Given the description of an element on the screen output the (x, y) to click on. 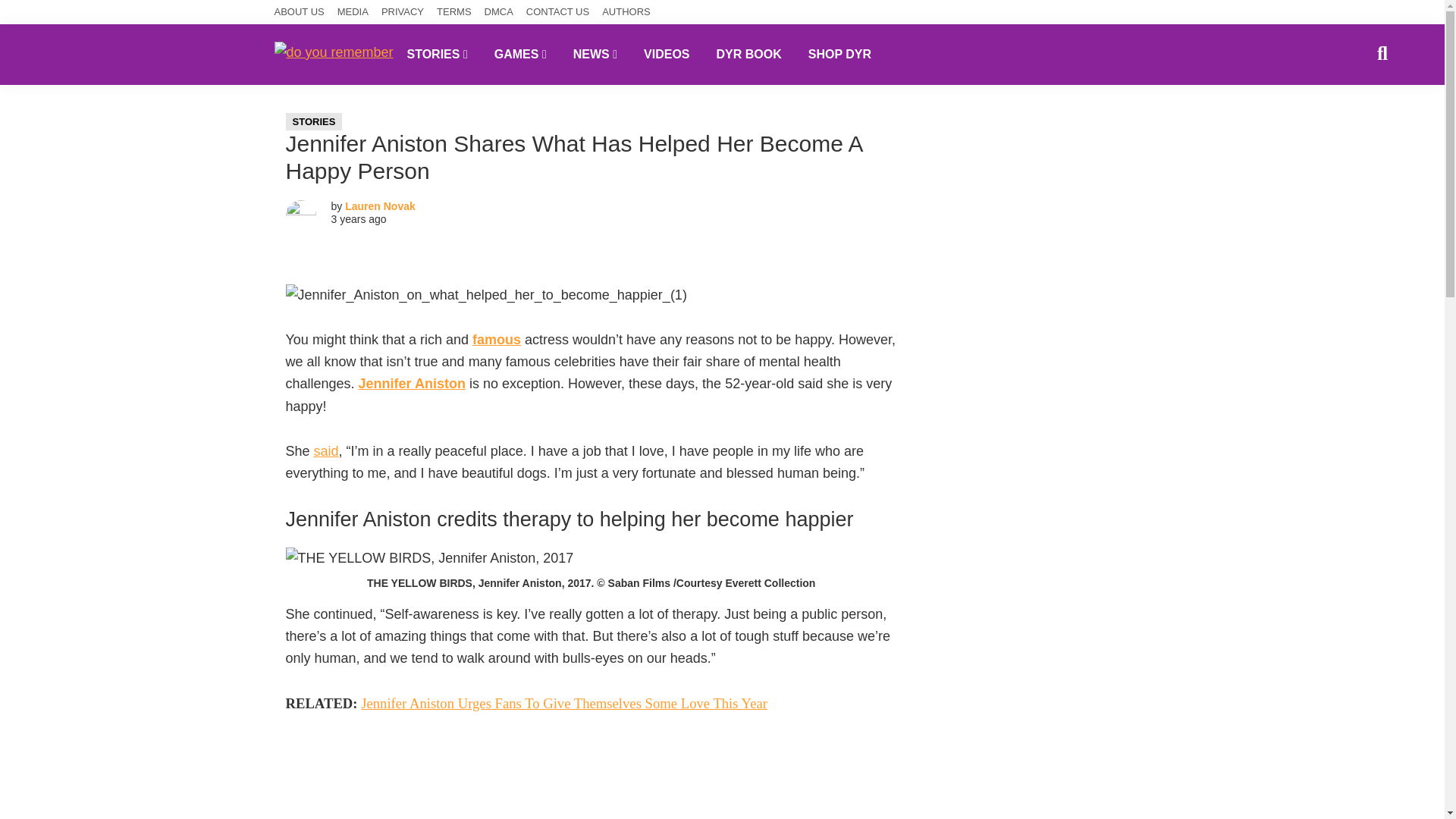
ABOUT US (299, 12)
Jennifer Aniston (411, 383)
DMCA (498, 12)
STORIES (314, 121)
CONTACT US (557, 12)
jennifer (429, 557)
SHOP DYR (839, 54)
MEDIA (352, 12)
Lauren Novak (379, 205)
